Given the description of an element on the screen output the (x, y) to click on. 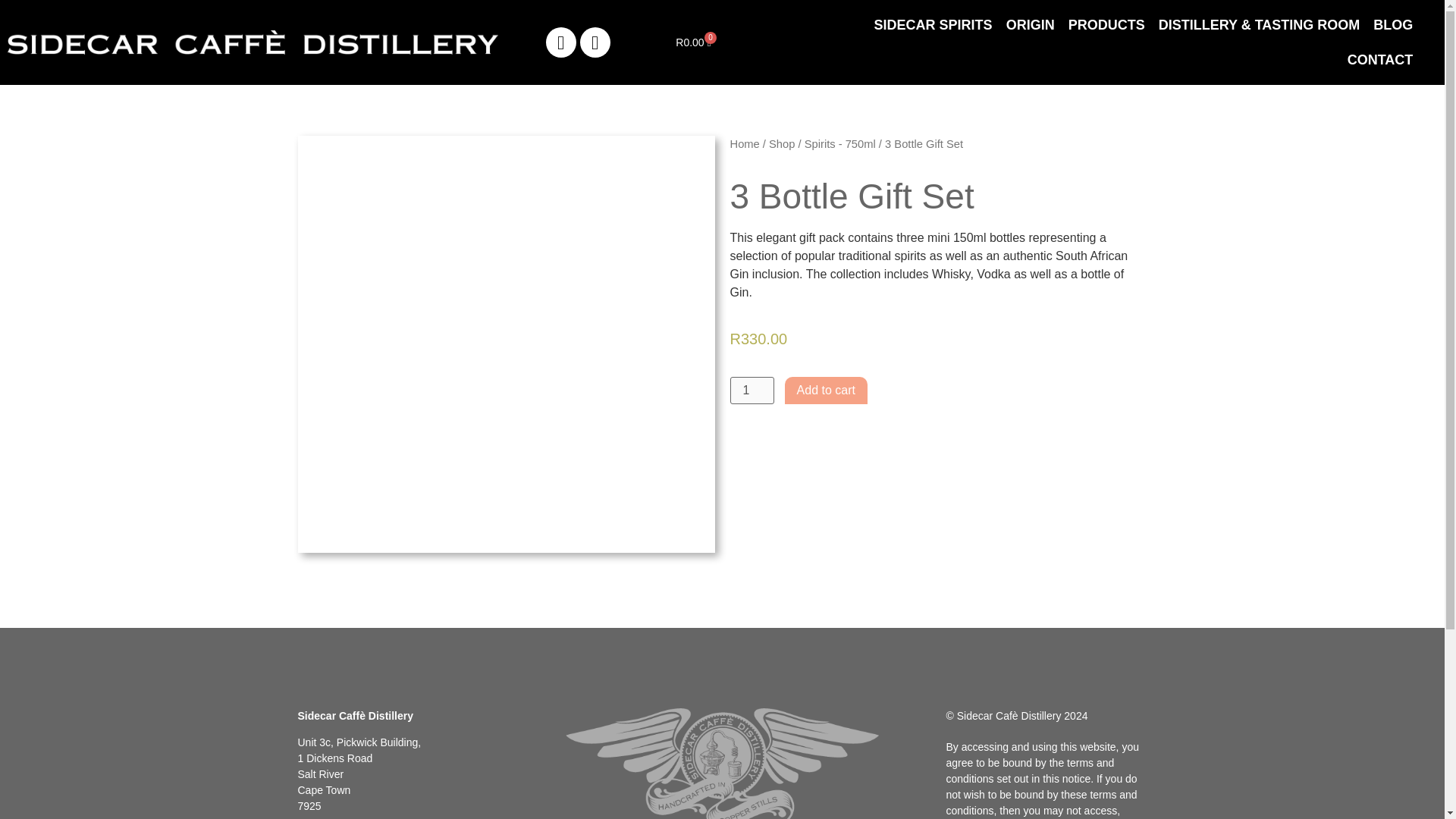
Spirits - 750ml (840, 143)
ORIGIN (693, 41)
Home (1029, 24)
1 (743, 143)
BLOG (751, 390)
SIDECAR SPIRITS (1393, 24)
CONTACT (932, 24)
Add to cart (1380, 59)
PRODUCTS (825, 390)
Shop (1106, 24)
